Given the description of an element on the screen output the (x, y) to click on. 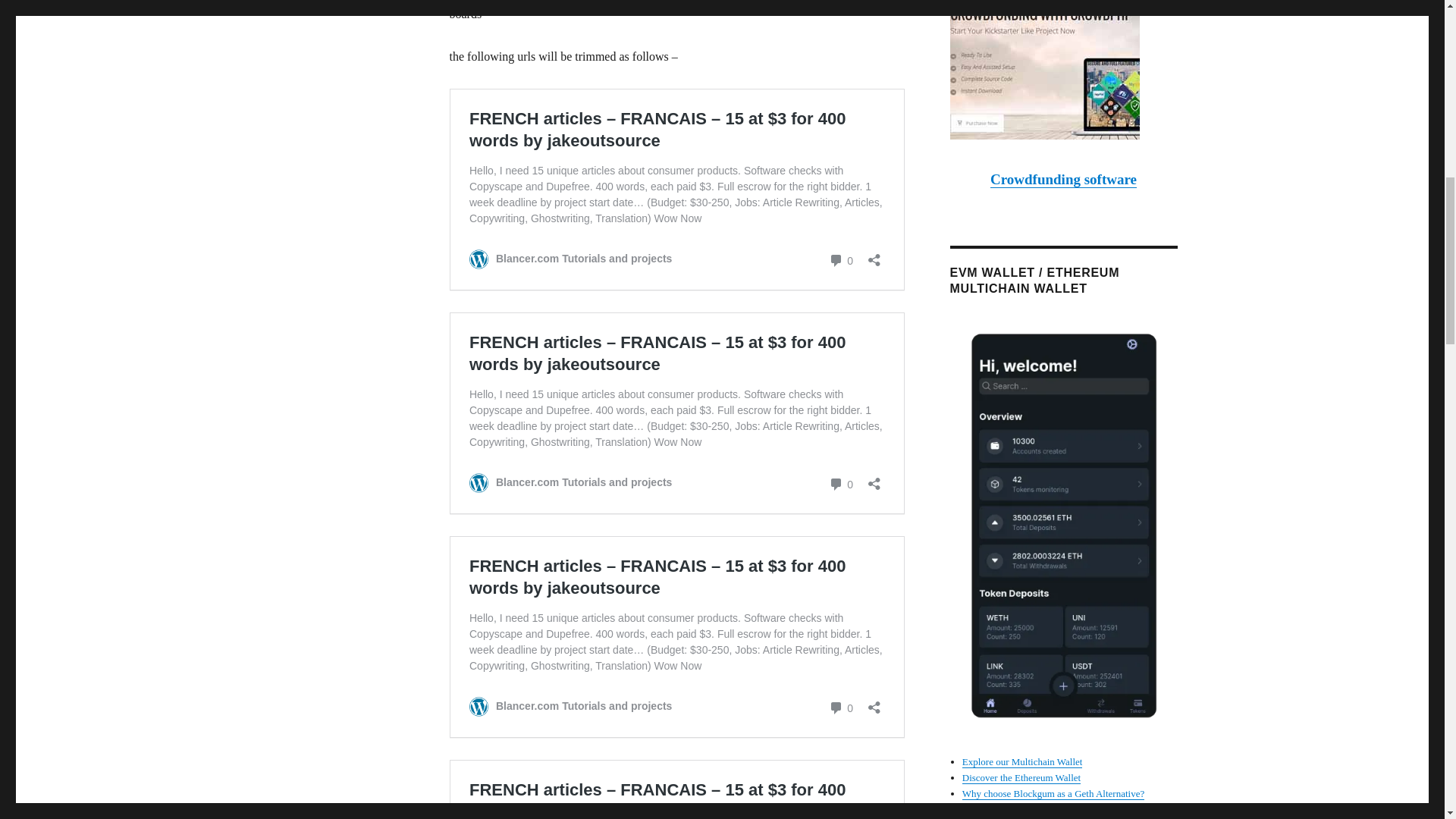
Crowdfunding software (1063, 179)
Explore our Multichain Wallet (1022, 761)
Crowdfunding software (1063, 179)
Kickstarter Clone (1062, 69)
